Given the description of an element on the screen output the (x, y) to click on. 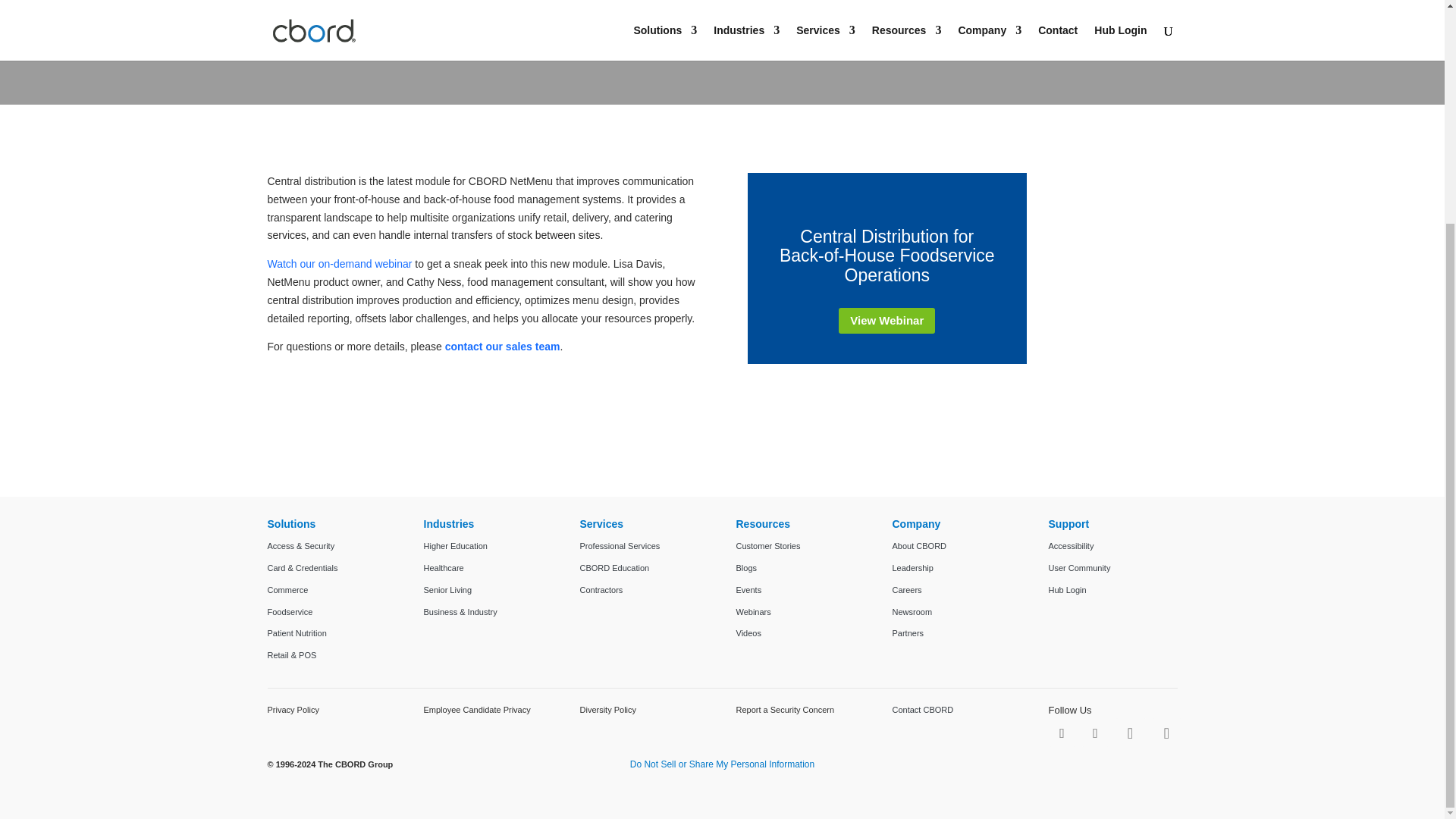
Follow on LinkedIn (1129, 733)
Follow on Facebook (1061, 732)
Follow on X (1094, 732)
Follow on Youtube (1165, 733)
